Given the description of an element on the screen output the (x, y) to click on. 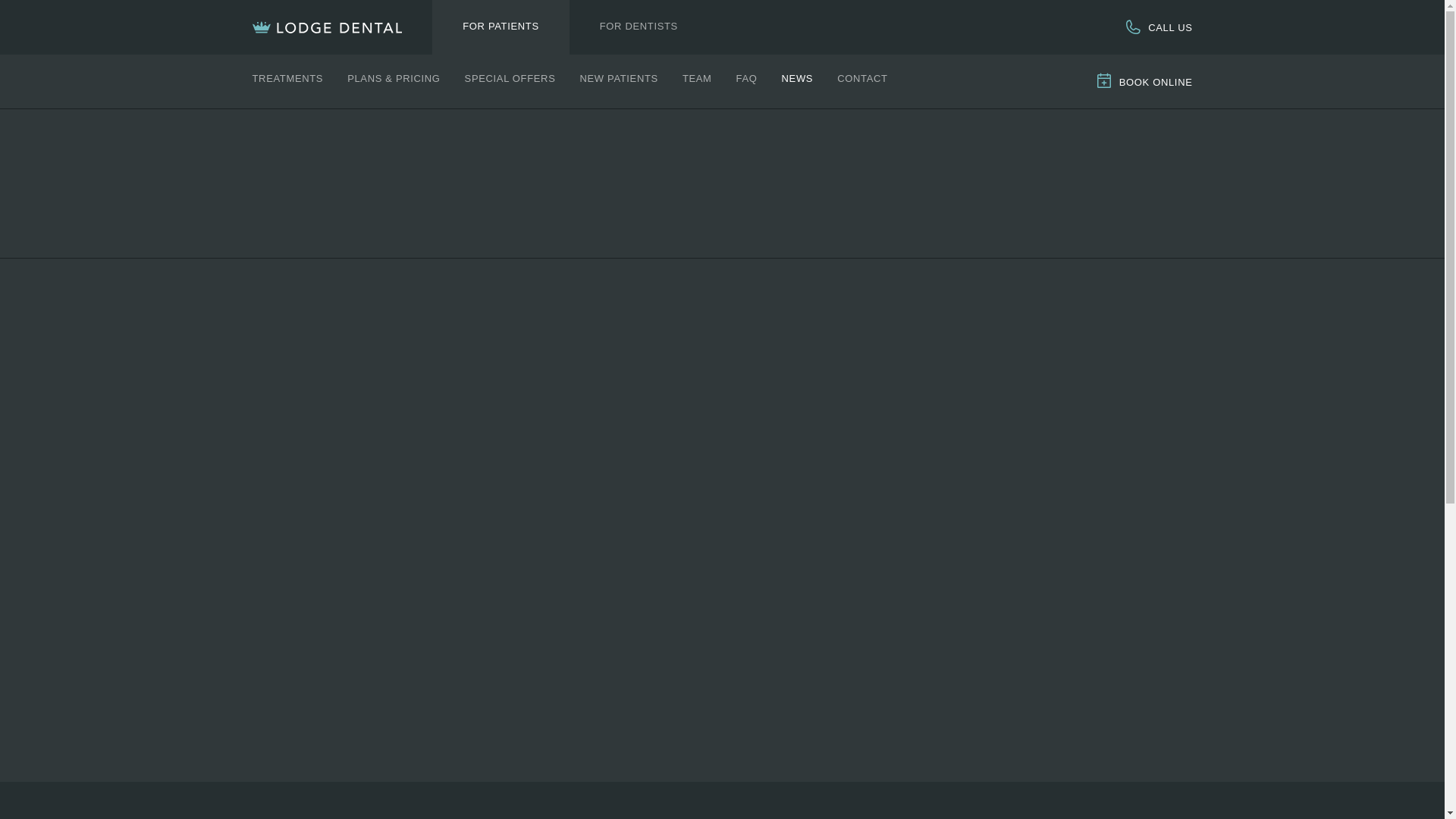
TREATMENTS (287, 78)
CONTACT (861, 78)
FOR PATIENTS (500, 27)
FOR DENTISTS (638, 27)
NEWS (797, 78)
TEAM (696, 78)
SPECIAL OFFERS (510, 78)
FAQ (746, 78)
NEW PATIENTS (618, 78)
CALL US (1158, 27)
